Given the description of an element on the screen output the (x, y) to click on. 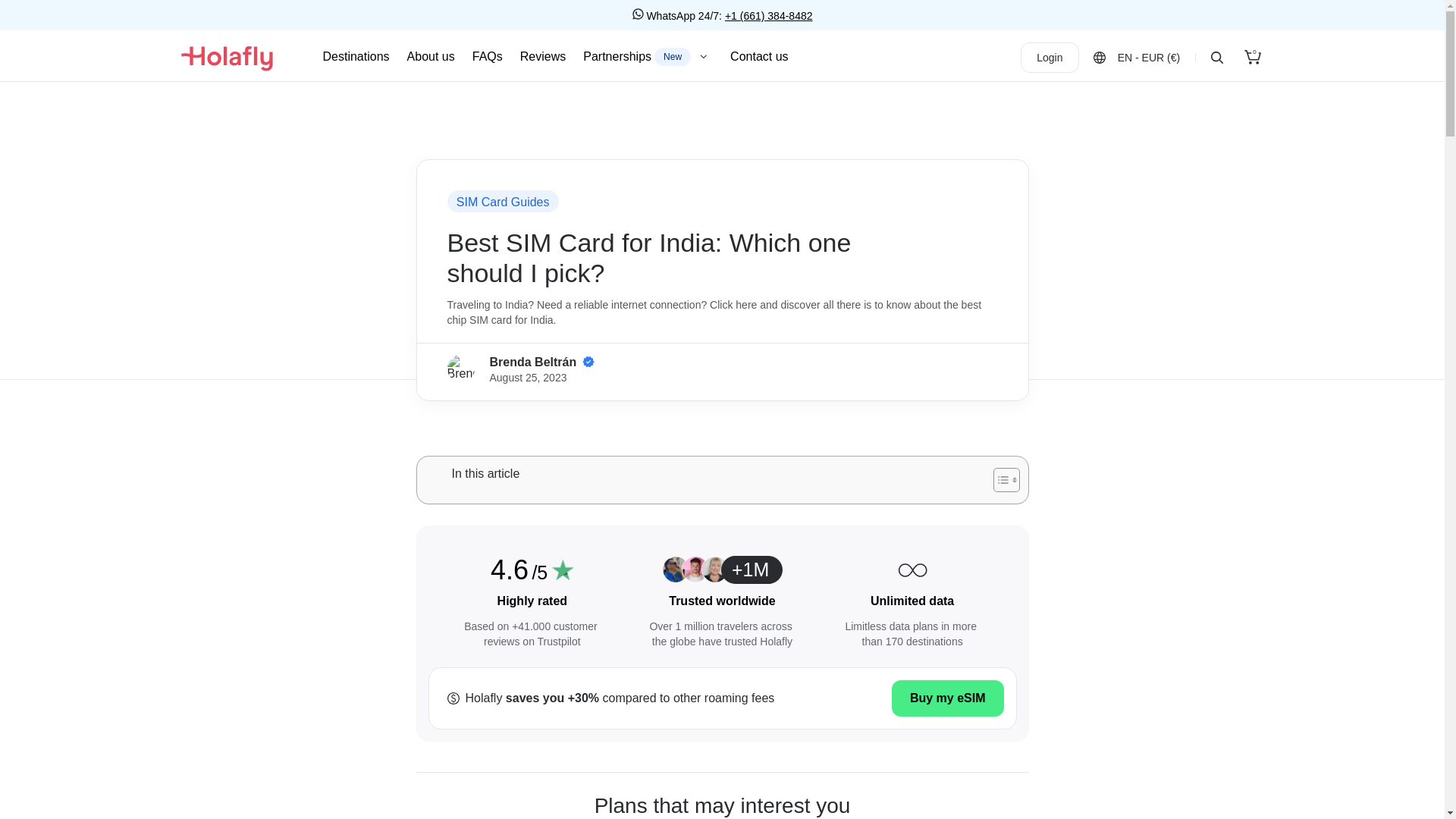
FAQs (648, 56)
Reviews (486, 56)
SIM Card Guides (542, 56)
Destinations (503, 202)
Login (356, 56)
Contact us (1049, 57)
0 (758, 56)
About us (1252, 57)
